Given the description of an element on the screen output the (x, y) to click on. 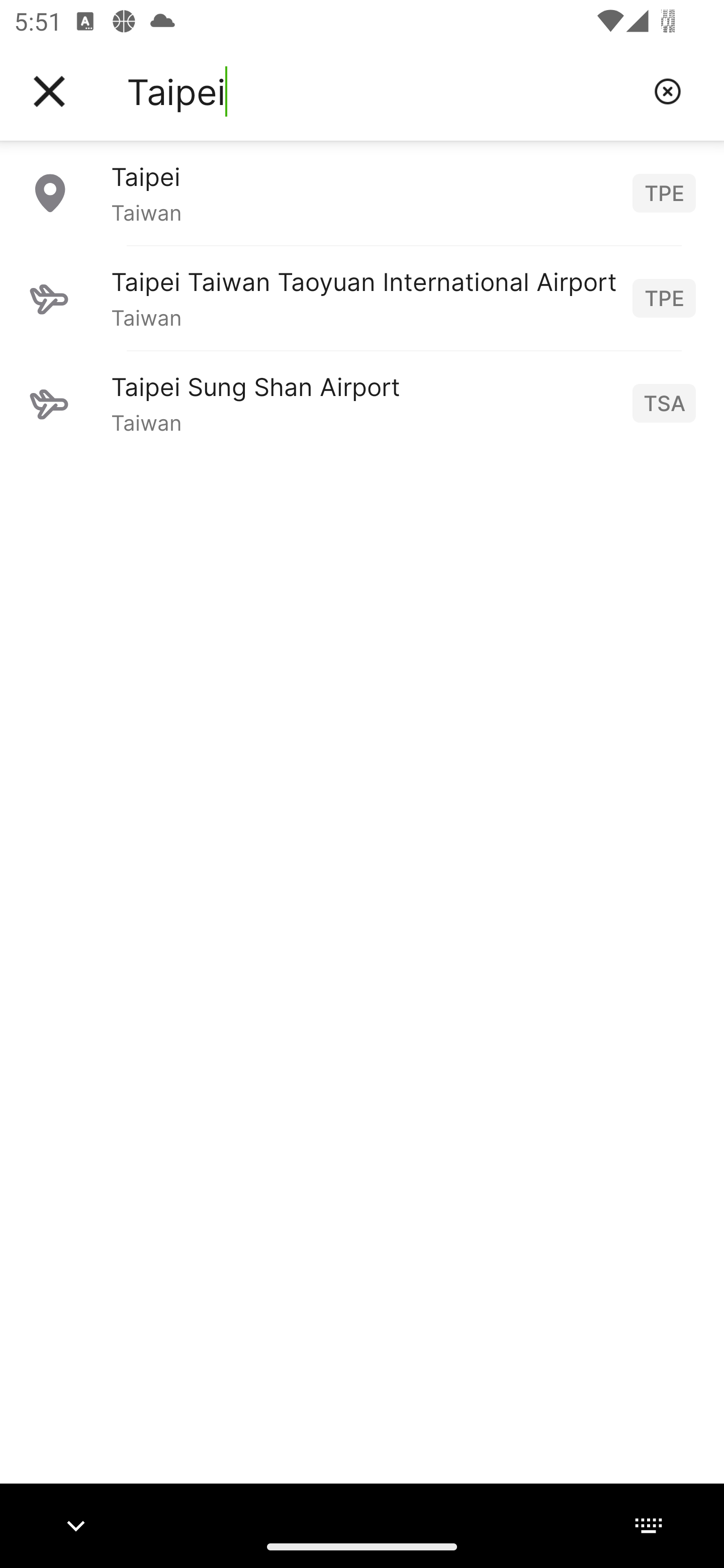
Taipei (382, 91)
Taipei Taiwan TPE (362, 192)
Taipei Sung Shan Airport Taiwan TSA (362, 402)
